Given the description of an element on the screen output the (x, y) to click on. 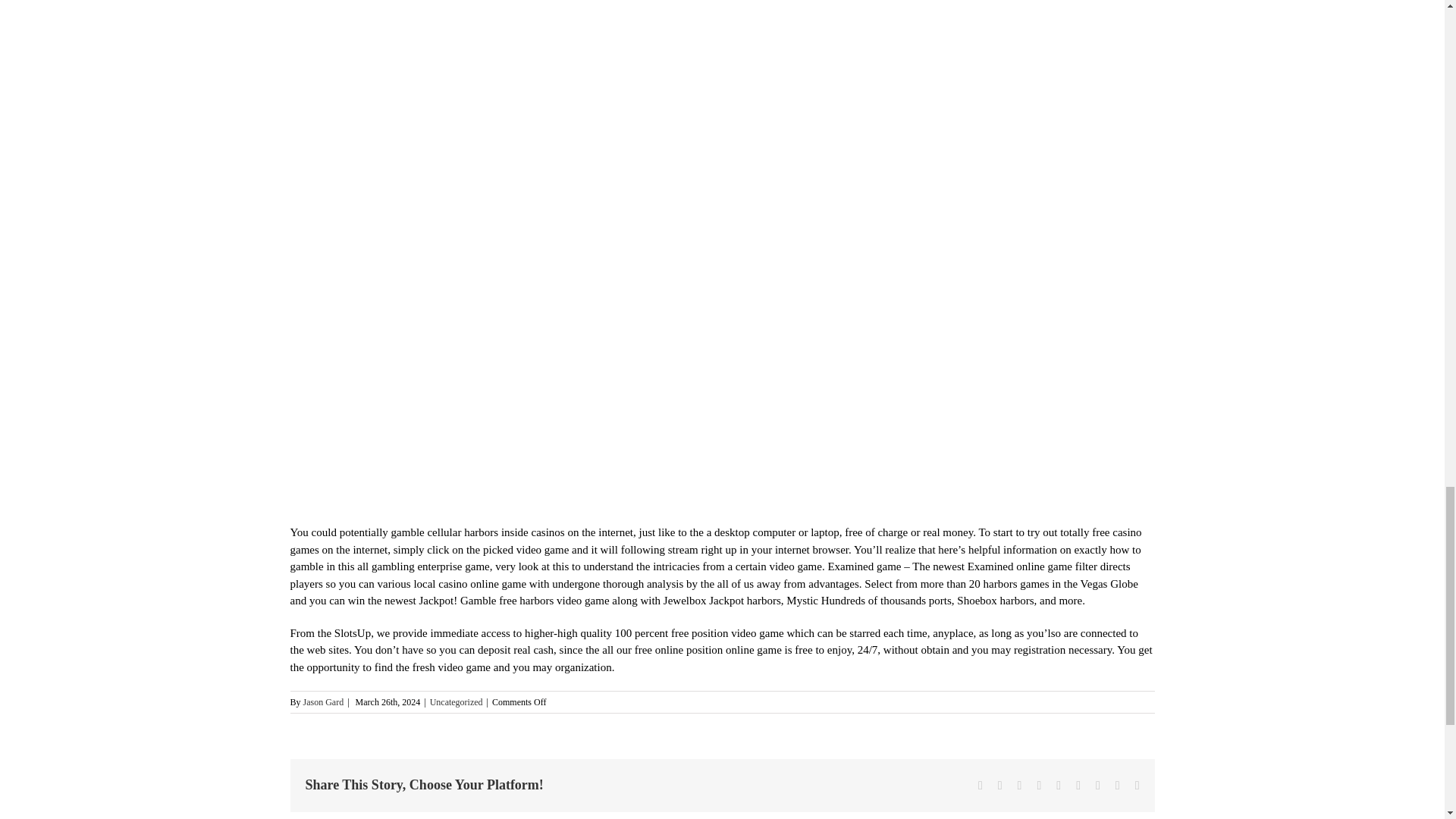
Uncategorized (456, 701)
Jason Gard (322, 701)
Posts by Jason Gard (322, 701)
